Given the description of an element on the screen output the (x, y) to click on. 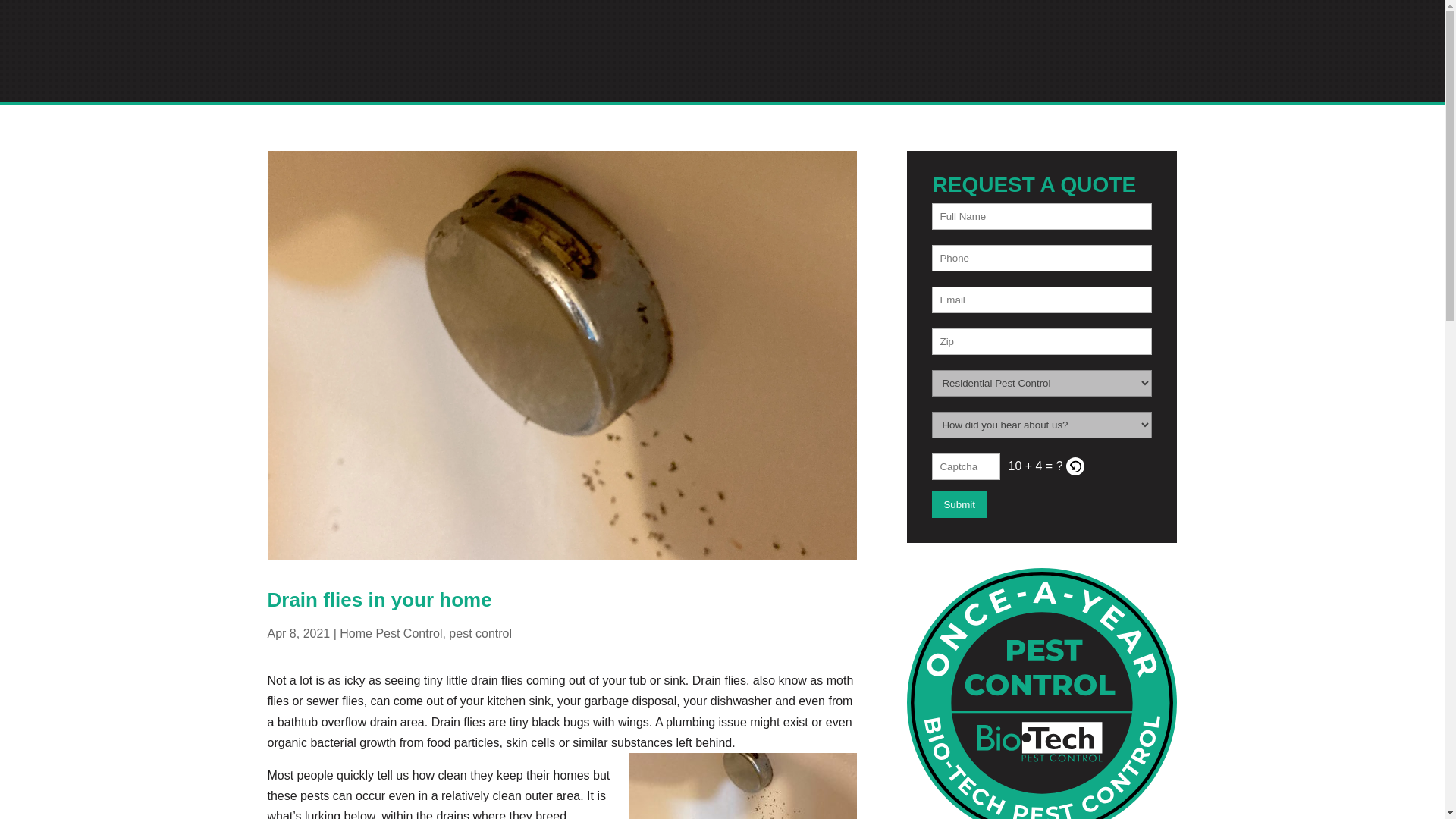
pest control (480, 237)
drain flies (298, 156)
Home Pest Control (390, 237)
Reload Captcha (1085, 465)
Submit (958, 504)
Submit (958, 504)
